Given the description of an element on the screen output the (x, y) to click on. 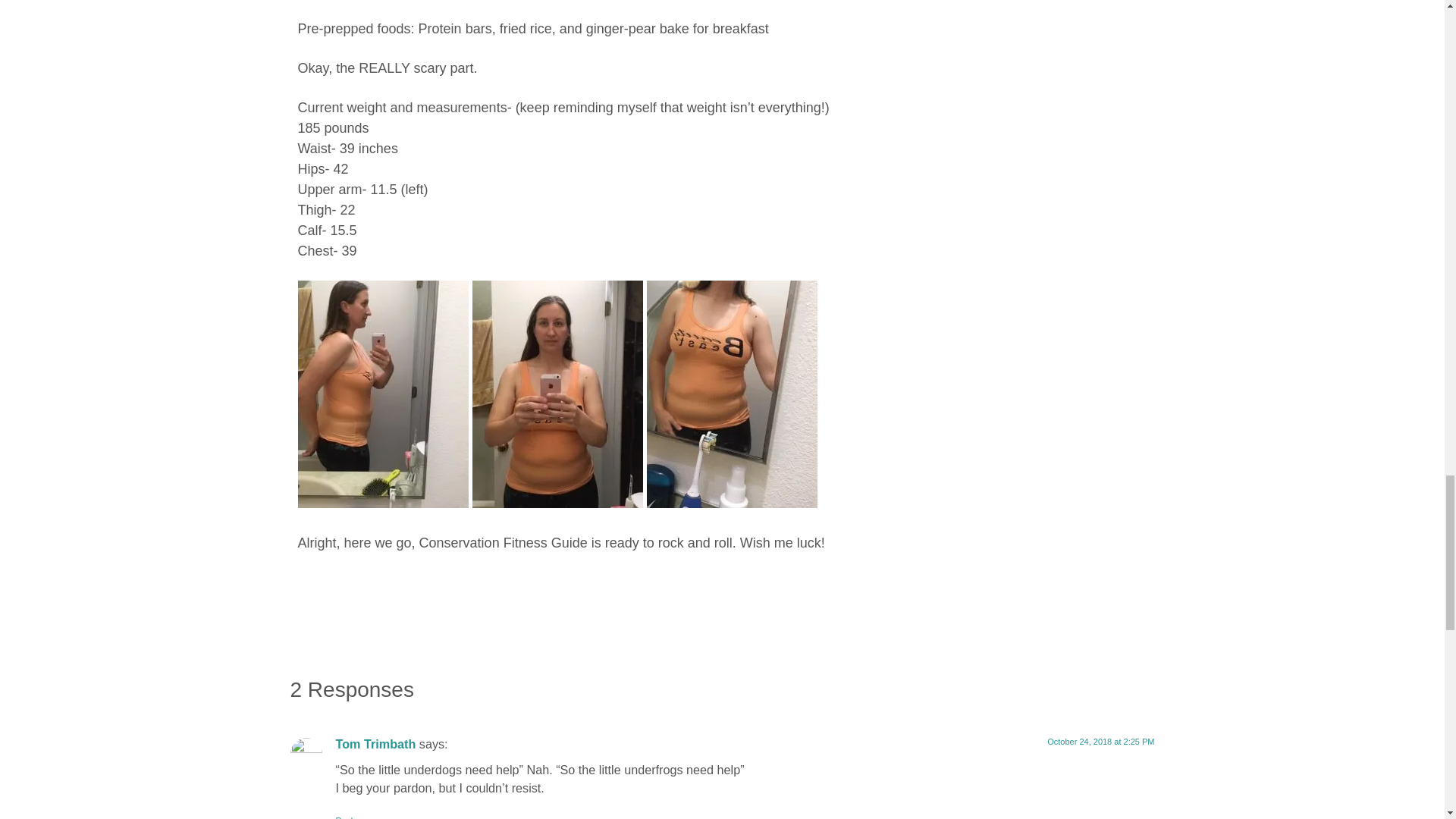
Reply (345, 817)
October 24, 2018 at 2:25 PM (1100, 741)
Tom Trimbath (374, 744)
